Given the description of an element on the screen output the (x, y) to click on. 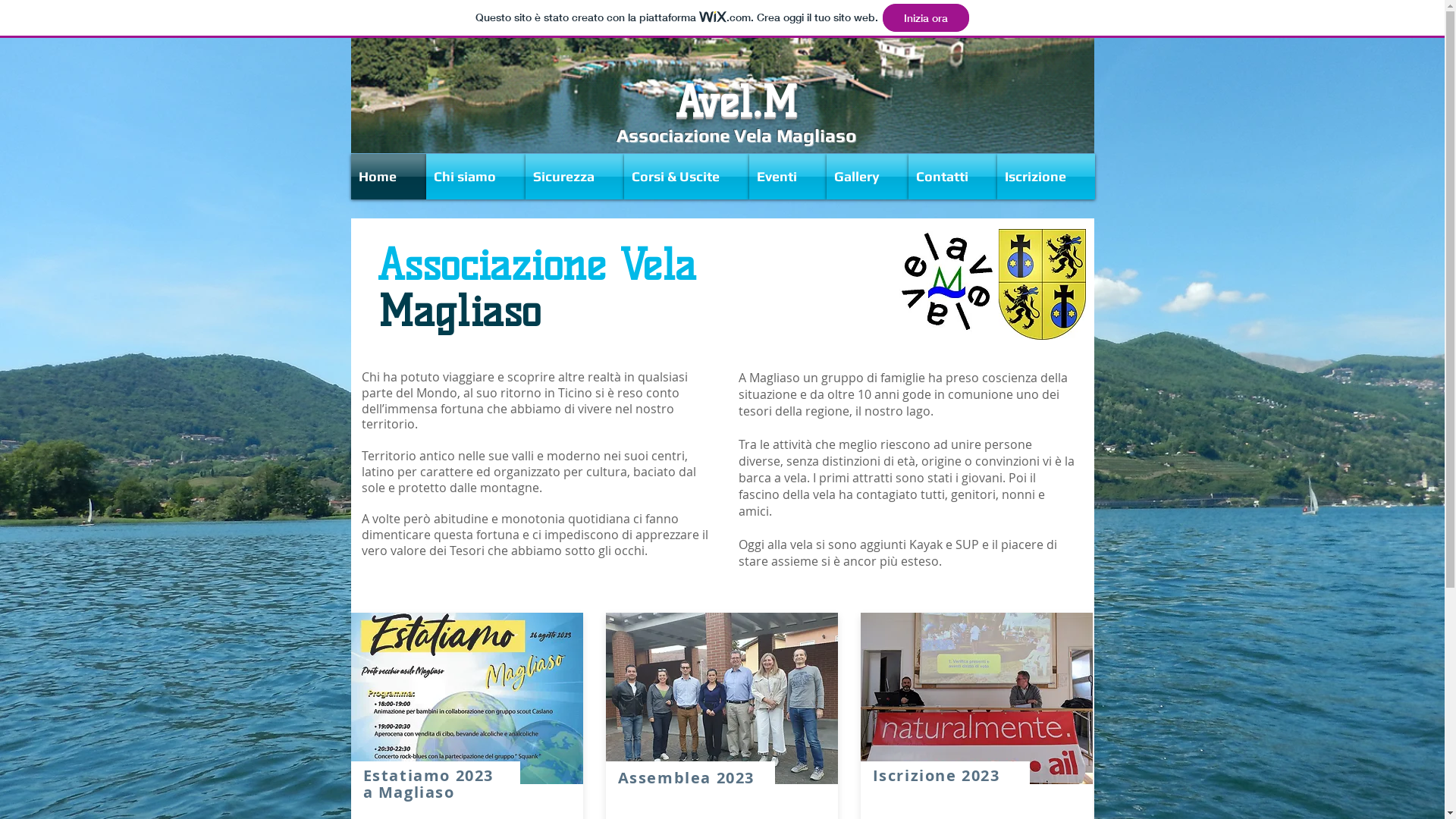
Gallery Element type: text (867, 176)
Sicurezza Element type: text (573, 176)
Iscrizione Element type: text (1045, 176)
Contatti Element type: text (952, 176)
Home Element type: text (387, 176)
Corsi & Uscite Element type: text (685, 176)
Chi siamo Element type: text (475, 176)
Eventi Element type: text (787, 176)
magliaso logo Comune.jpg Element type: hover (1041, 284)
Porto.png Element type: hover (721, 85)
